Given the description of an element on the screen output the (x, y) to click on. 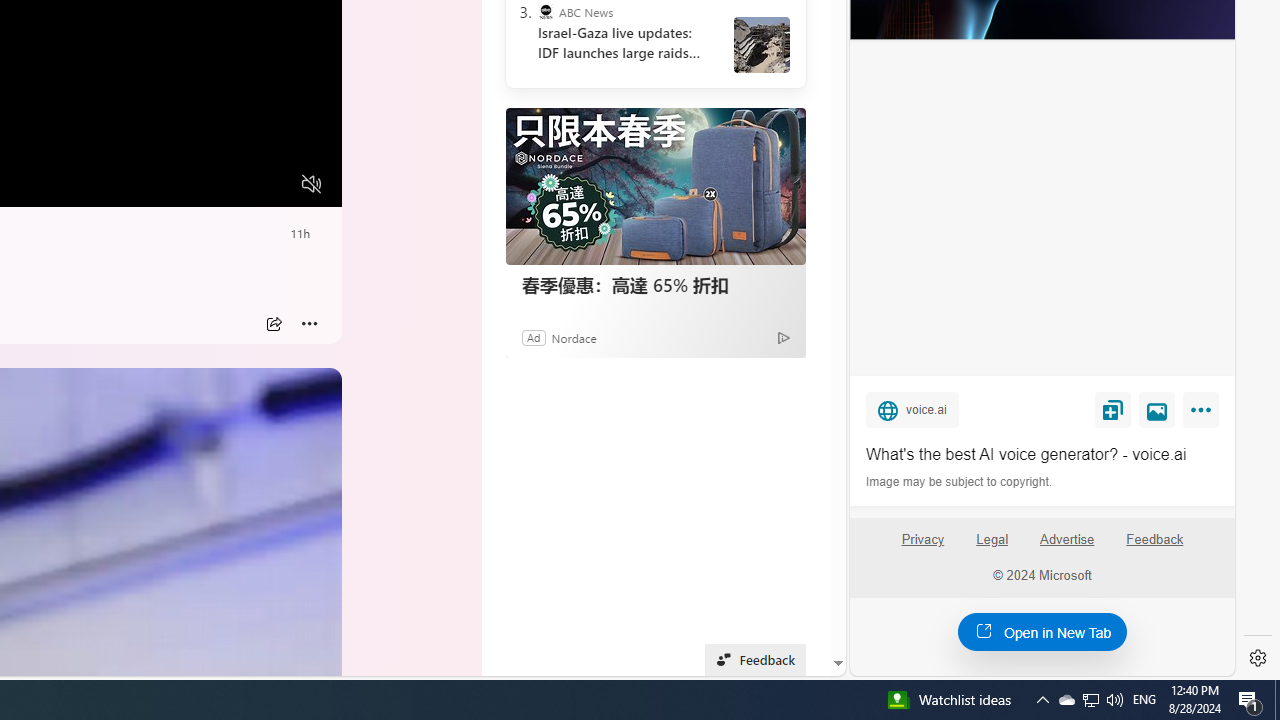
View image (1157, 409)
Captions (233, 185)
Settings (1258, 658)
Quality Settings (193, 185)
Share (274, 324)
What's the best AI voice generator? - voice.ai (1042, 454)
Legal (992, 547)
Advertise (1067, 547)
Privacy (922, 539)
